Given the description of an element on the screen output the (x, y) to click on. 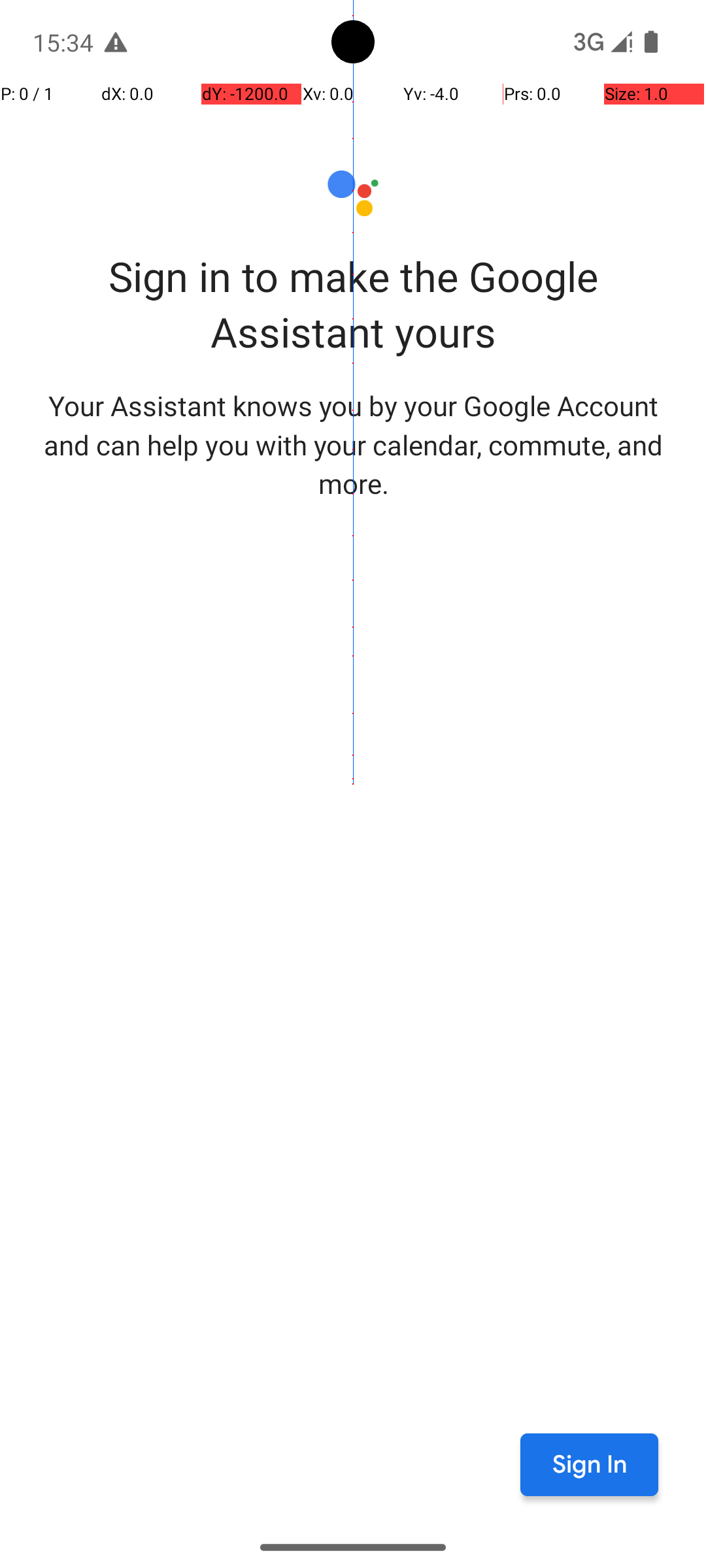
Sign In Element type: android.widget.Button (588, 1464)
Sign in to make the Google Assistant yours Element type: android.widget.TextView (352, 303)
Your Assistant knows you by your Google Account and can help you with your calendar, commute, and more. Element type: android.widget.TextView (352, 443)
